Given the description of an element on the screen output the (x, y) to click on. 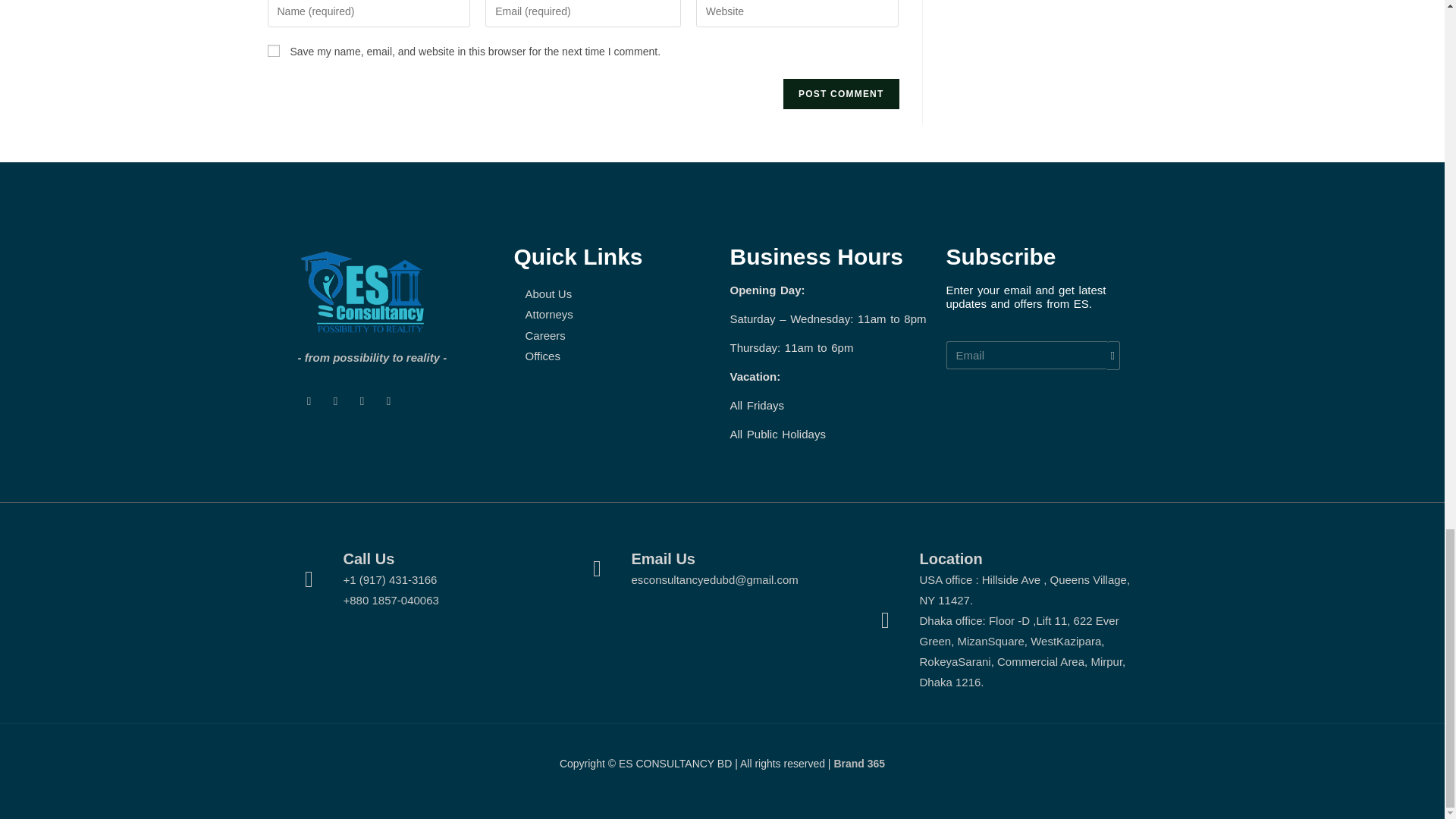
Post Comment (840, 93)
yes (272, 50)
